Given the description of an element on the screen output the (x, y) to click on. 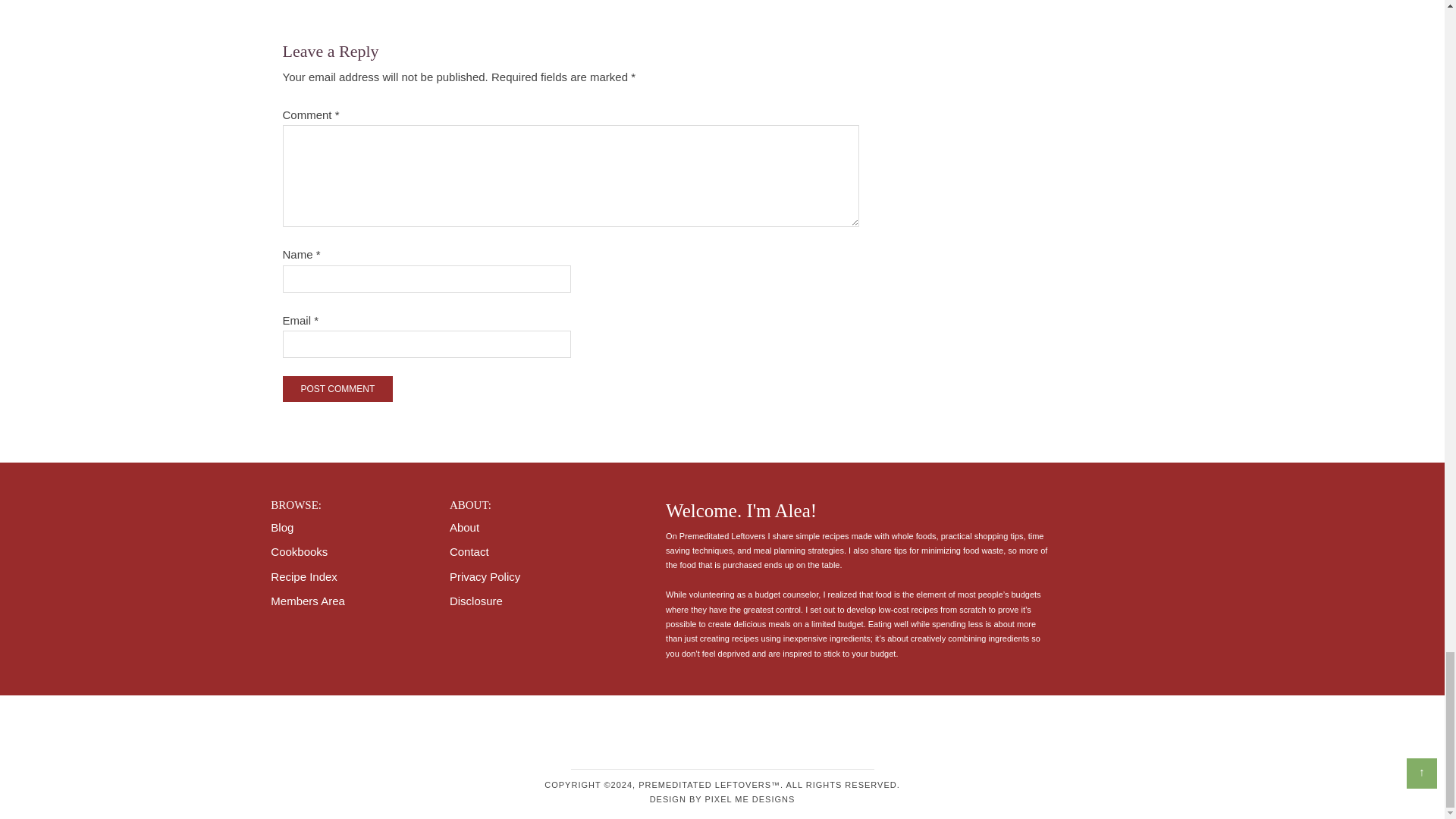
Post Comment (337, 388)
